Given the description of an element on the screen output the (x, y) to click on. 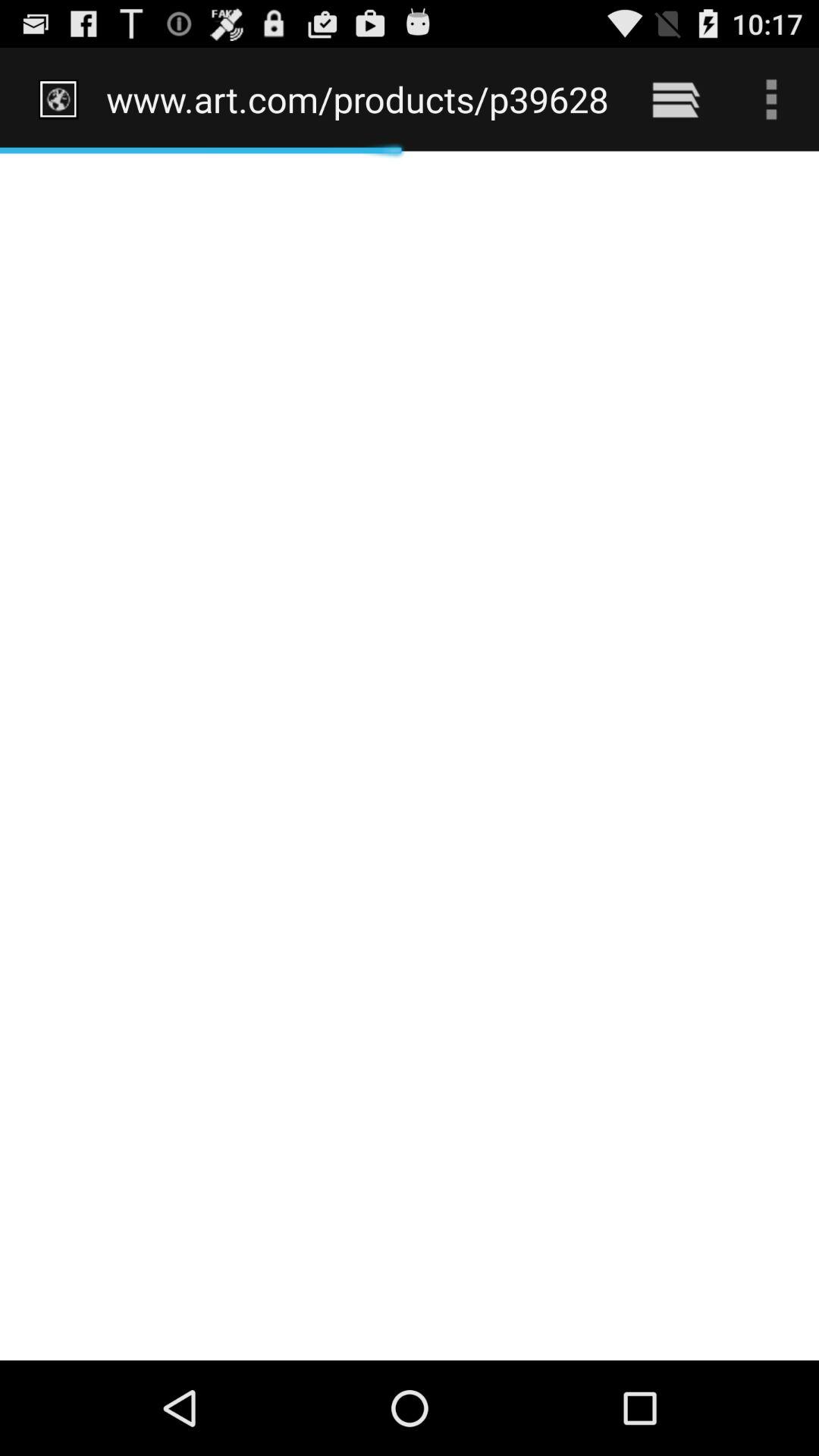
turn off the item to the right of www art com (675, 99)
